Given the description of an element on the screen output the (x, y) to click on. 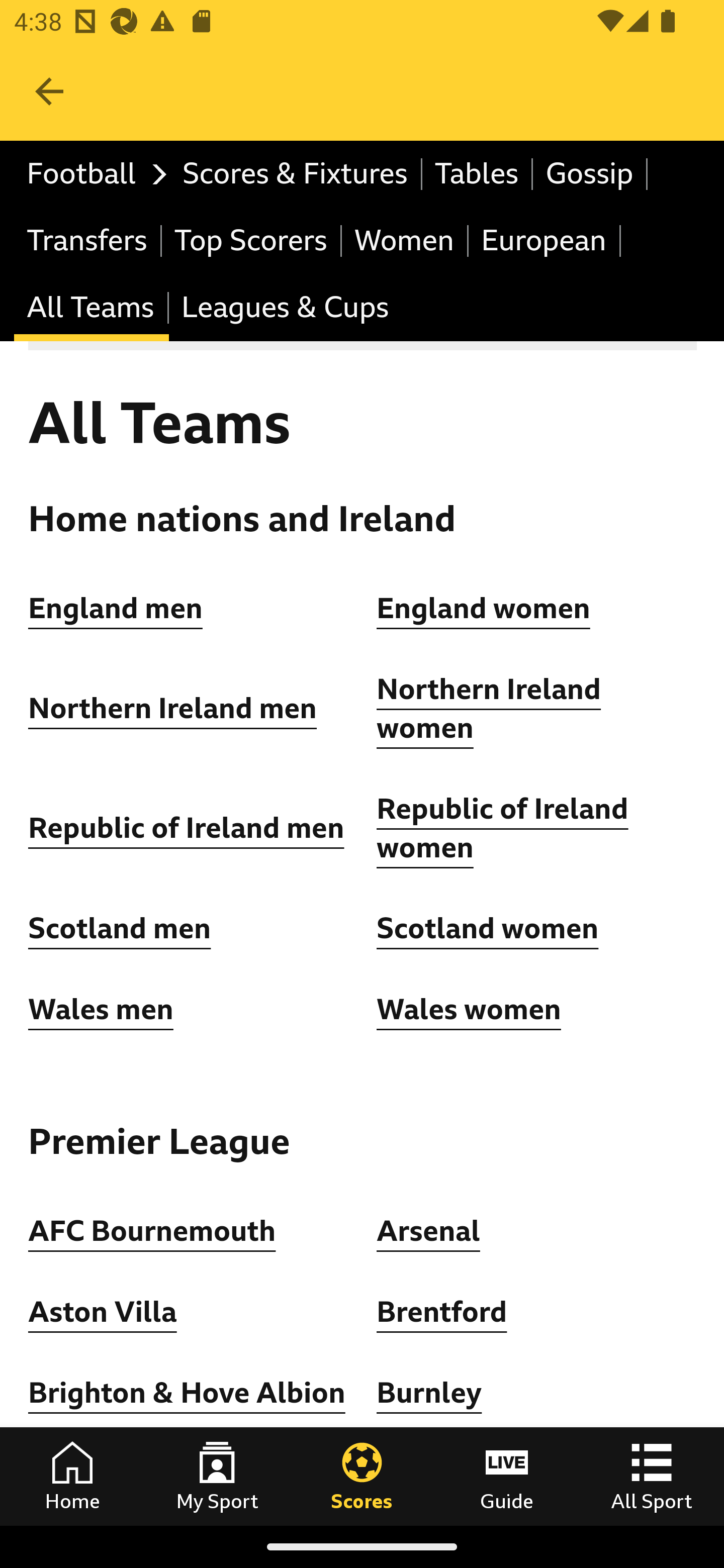
Navigate up (49, 91)
Football (91, 173)
Scores & Fixtures (295, 173)
Tables (477, 173)
Gossip (590, 173)
Transfers (88, 240)
Top Scorers (251, 240)
Women (405, 240)
European (544, 240)
All Teams (91, 308)
Leagues & Cups (284, 308)
England men (116, 608)
England women (483, 608)
Northern Ireland women (488, 709)
Northern Ireland men (173, 708)
Republic of Ireland women (502, 828)
Republic of Ireland men (186, 827)
Scotland men (120, 929)
Scotland women (487, 929)
Wales men (100, 1009)
Wales women (468, 1009)
AFC Bournemouth (151, 1230)
Arsenal (428, 1230)
Aston Villa (102, 1312)
Brentford (442, 1312)
Brighton & Hove Albion (187, 1393)
Burnley (429, 1393)
Home (72, 1475)
My Sport (216, 1475)
Guide (506, 1475)
All Sport (651, 1475)
